Given the description of an element on the screen output the (x, y) to click on. 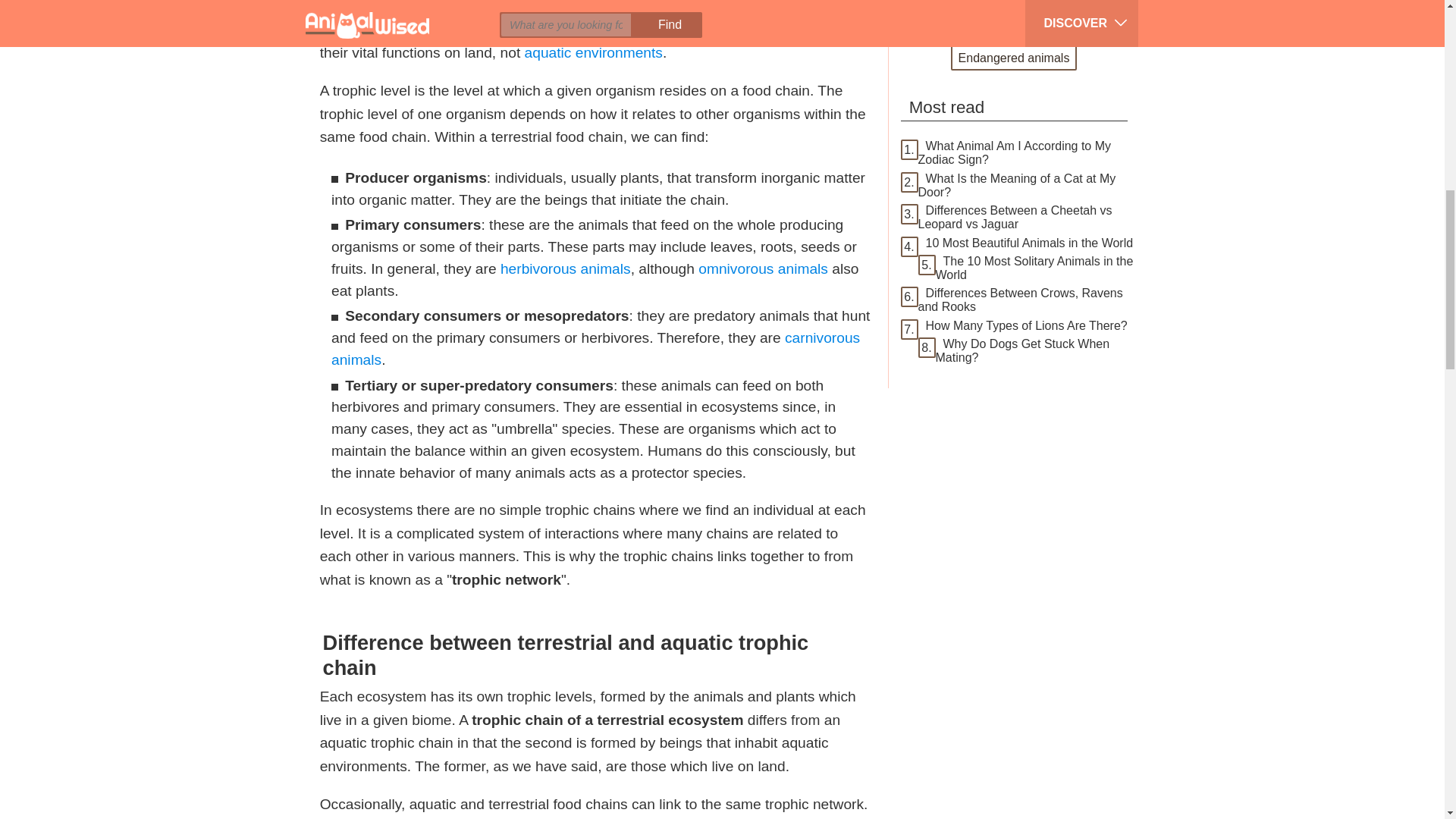
aquatic environments (593, 52)
omnivorous animals (763, 268)
herbivorous animals (565, 268)
